Given the description of an element on the screen output the (x, y) to click on. 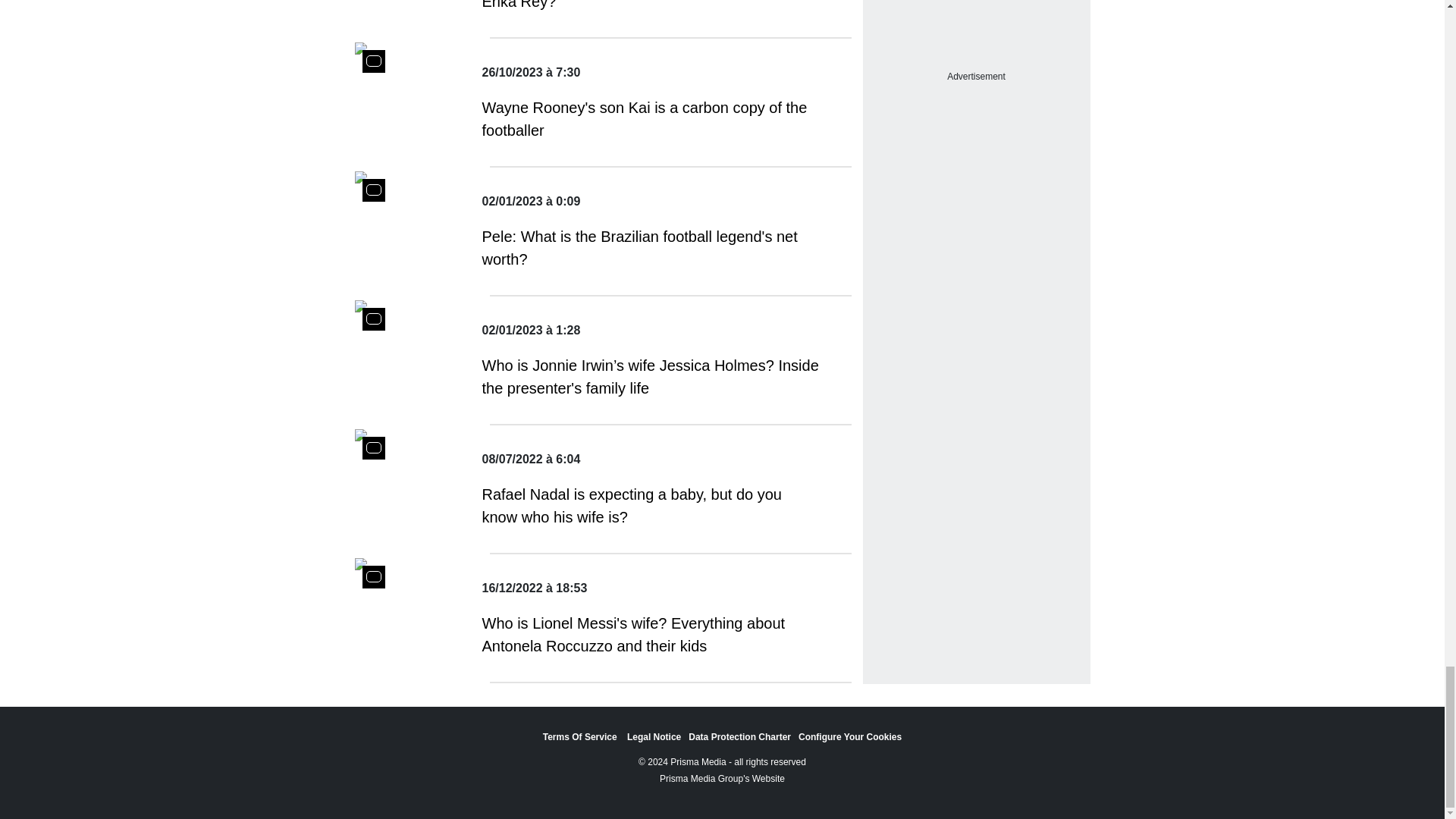
Wayne Rooney's son Kai is a carbon copy of the footballer (651, 118)
Configure Your Cookies (849, 737)
Data Protection Charter (739, 737)
Pele: What is the Brazilian football legend's net worth? (651, 248)
Legal Notice (654, 737)
Dominic Raab's wife is not from the UK: Who is Erika Rey? (651, 6)
Terms Of Service (581, 737)
